Given the description of an element on the screen output the (x, y) to click on. 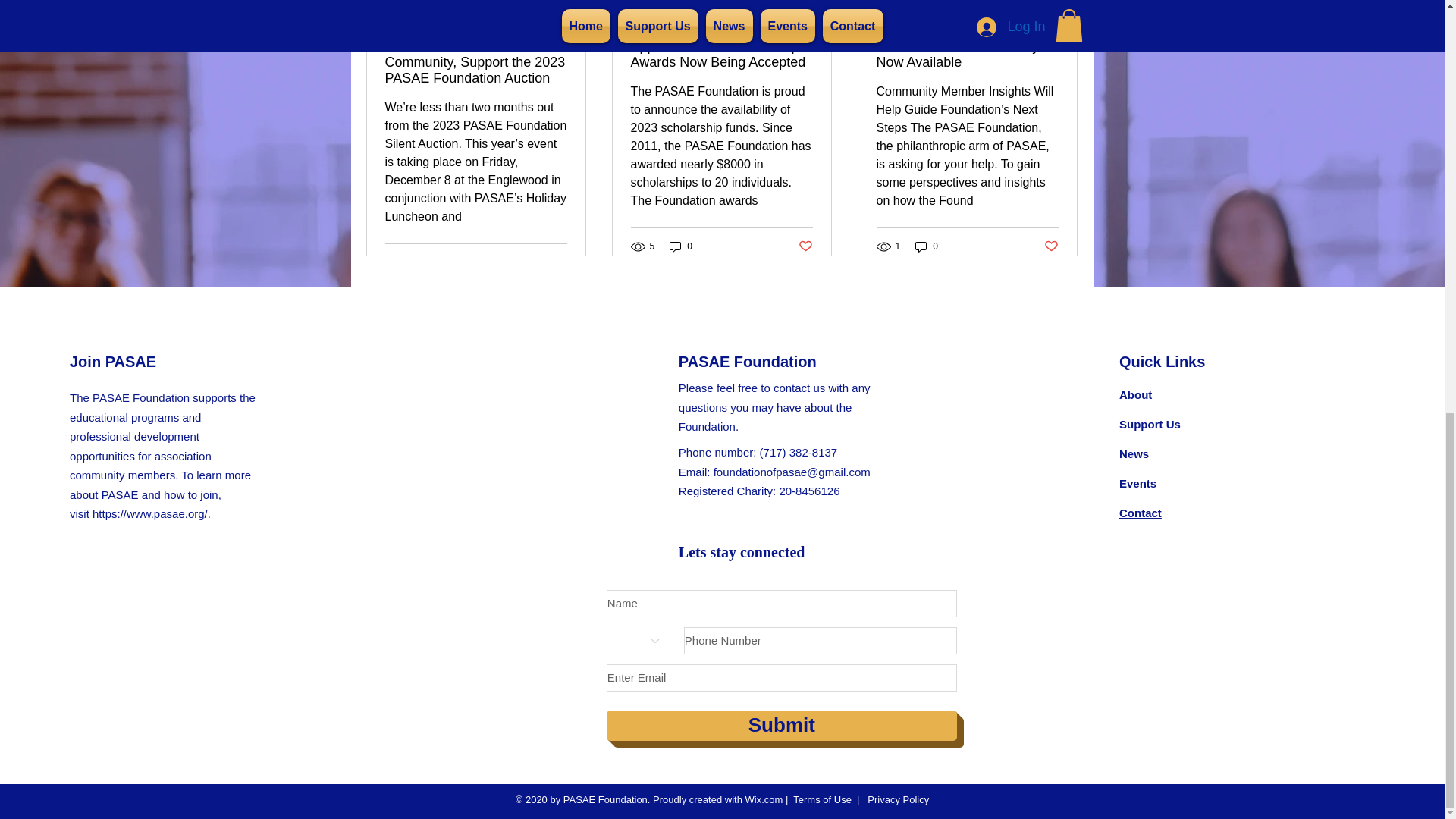
Applications for Scholarship Awards Now Being Accepted (721, 54)
Submit (781, 725)
Post not marked as liked (1050, 246)
0 (926, 246)
PASAE Foundation Survey Now Available (967, 54)
Post not marked as liked (804, 246)
Post not marked as liked (558, 262)
0 (681, 246)
See All (1061, 2)
About (1135, 394)
